Given the description of an element on the screen output the (x, y) to click on. 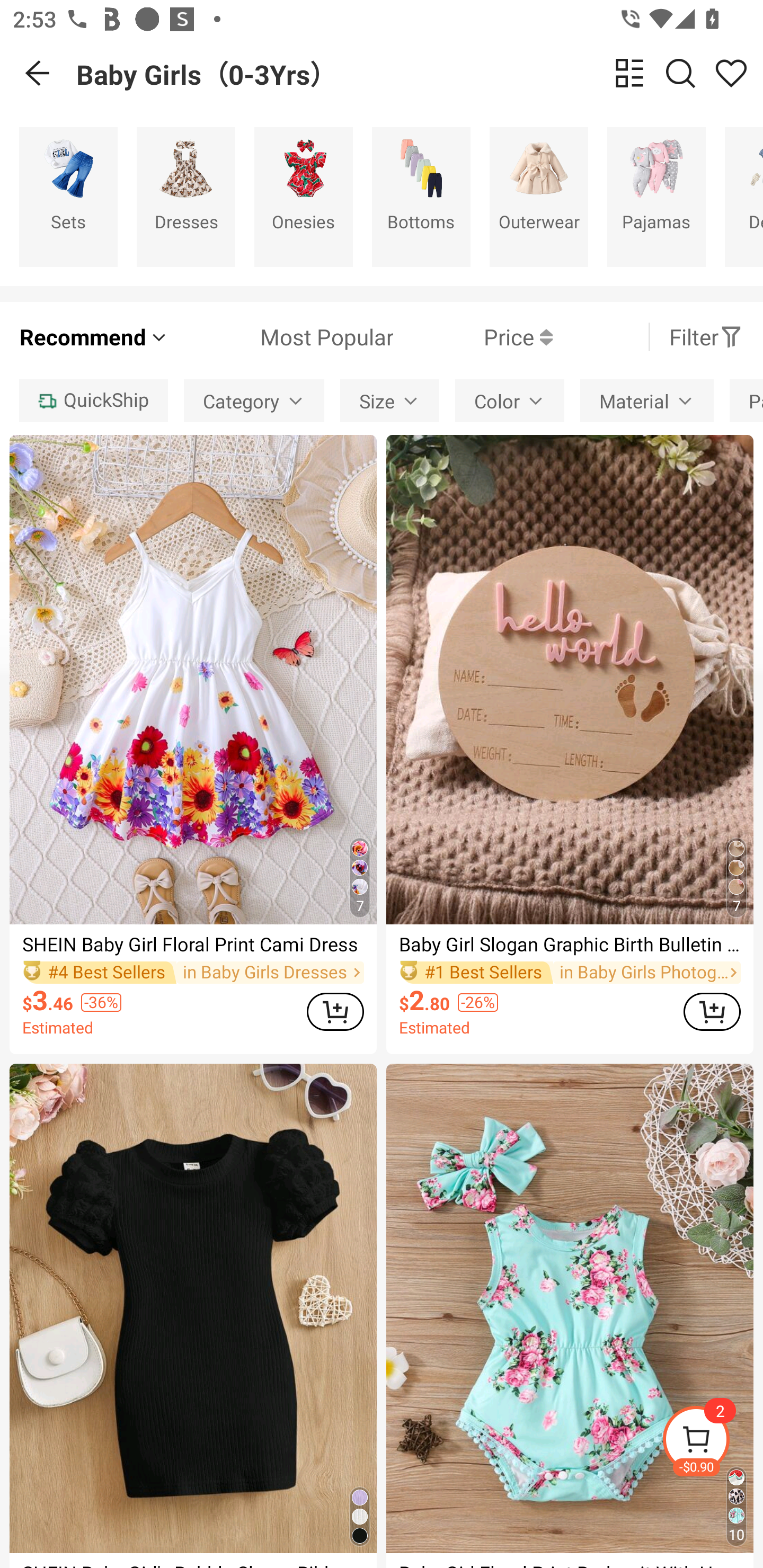
Baby Girls（0-3Yrs） change view Search Share (419, 72)
change view (629, 72)
Search (679, 72)
Share (730, 72)
Sets (68, 196)
Dresses (185, 196)
Onesies (303, 196)
Bottoms (421, 196)
Outerwear (538, 196)
Pajamas (656, 196)
Recommend (94, 336)
Most Popular (280, 336)
Price (472, 336)
Filter (705, 336)
QuickShip (93, 400)
Category (253, 400)
Size (389, 400)
Color (509, 400)
Material (646, 400)
#4 Best Sellers in Baby Girls Dresses (192, 971)
#1 Best Sellers in Baby Girls Photography Sets (569, 971)
ADD TO CART (334, 1011)
ADD TO CART (711, 1011)
-$0.90 (712, 1441)
